Given the description of an element on the screen output the (x, y) to click on. 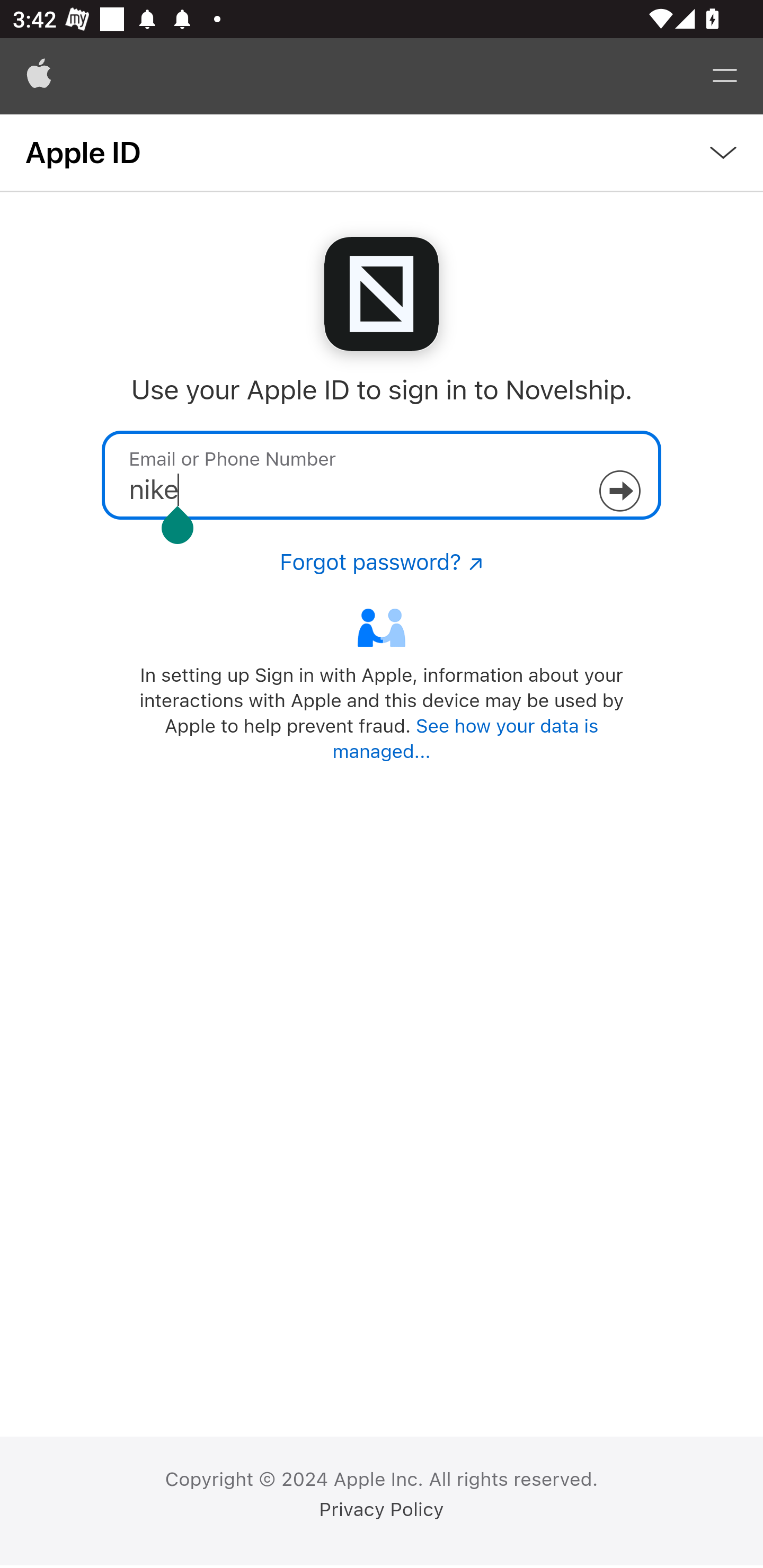
Apple (38, 75)
Menu (724, 75)
nike (381, 475)
Continue (618, 490)
Privacy Policy (381, 1509)
